Given the description of an element on the screen output the (x, y) to click on. 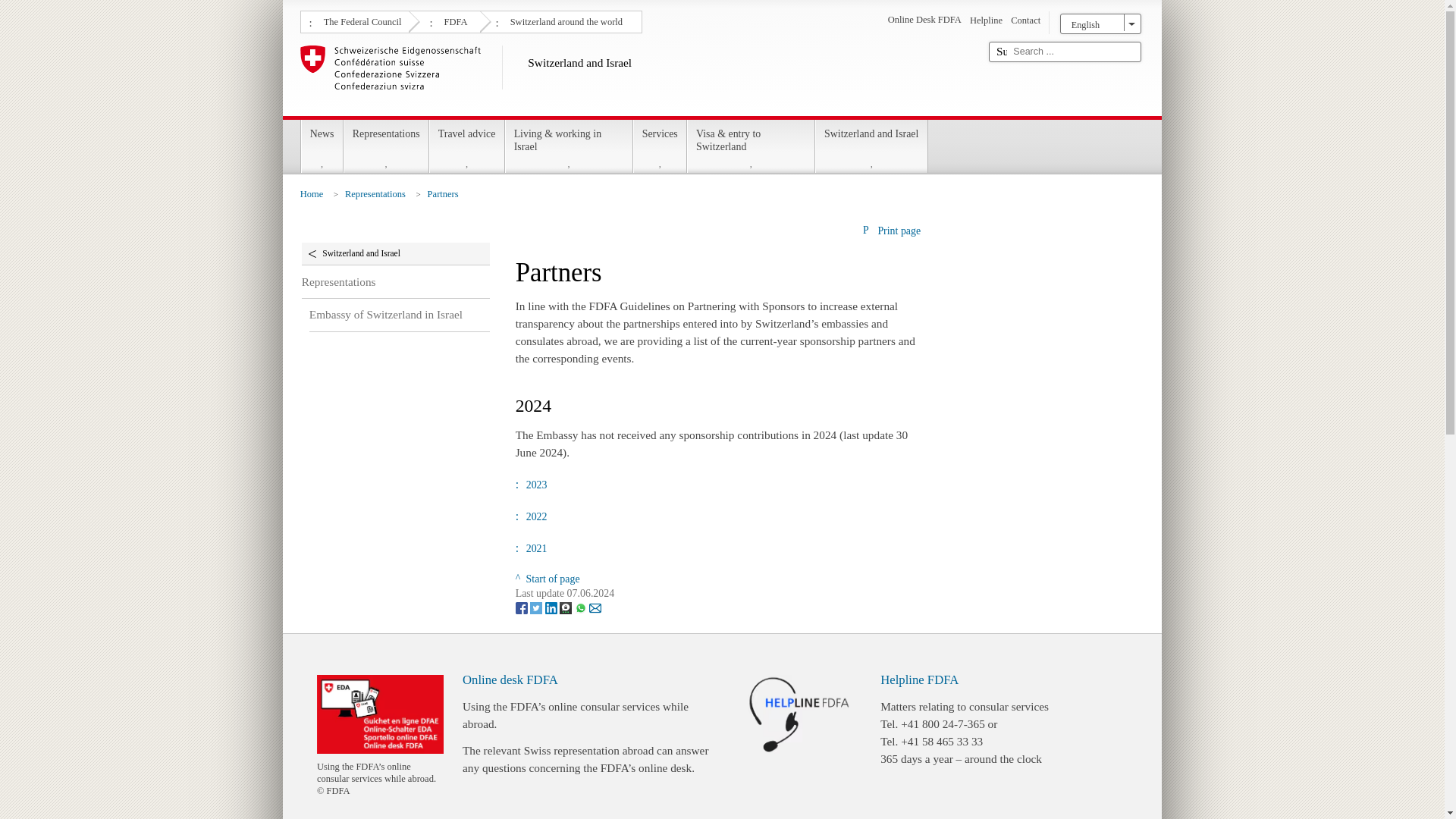
FDFA (454, 20)
Switzerland and Israel (637, 76)
The Federal Council (360, 20)
Switzerland around the world (564, 20)
